Given the description of an element on the screen output the (x, y) to click on. 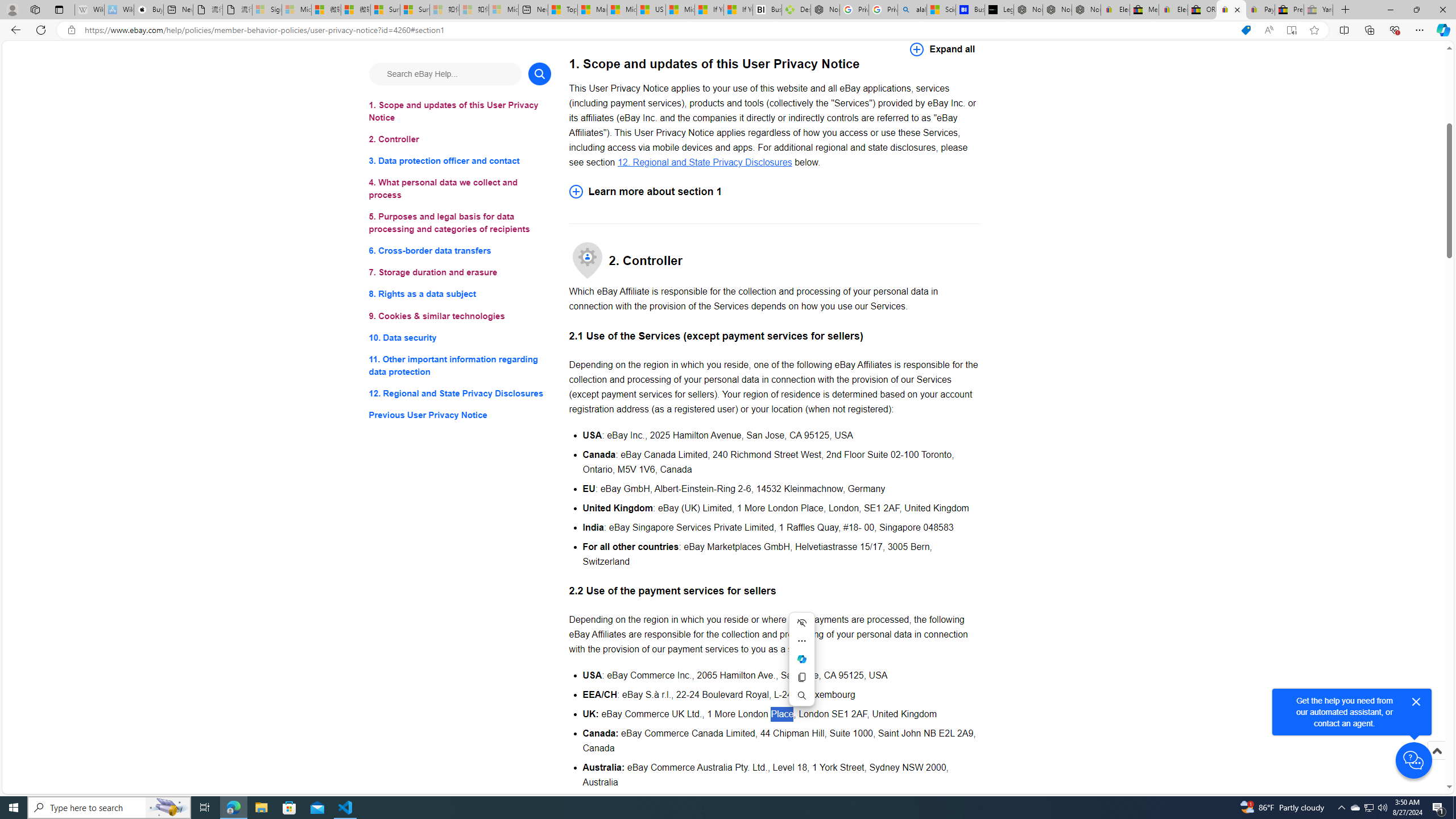
US Heat Deaths Soared To Record High Last Year (651, 9)
alabama high school quarterback dies - Search (911, 9)
Scroll to top (1435, 750)
Yard, Garden & Outdoor Living - Sleeping (1318, 9)
9. Cookies & similar technologies (459, 315)
More actions (801, 641)
6. Cross-border data transfers (459, 250)
